Given the description of an element on the screen output the (x, y) to click on. 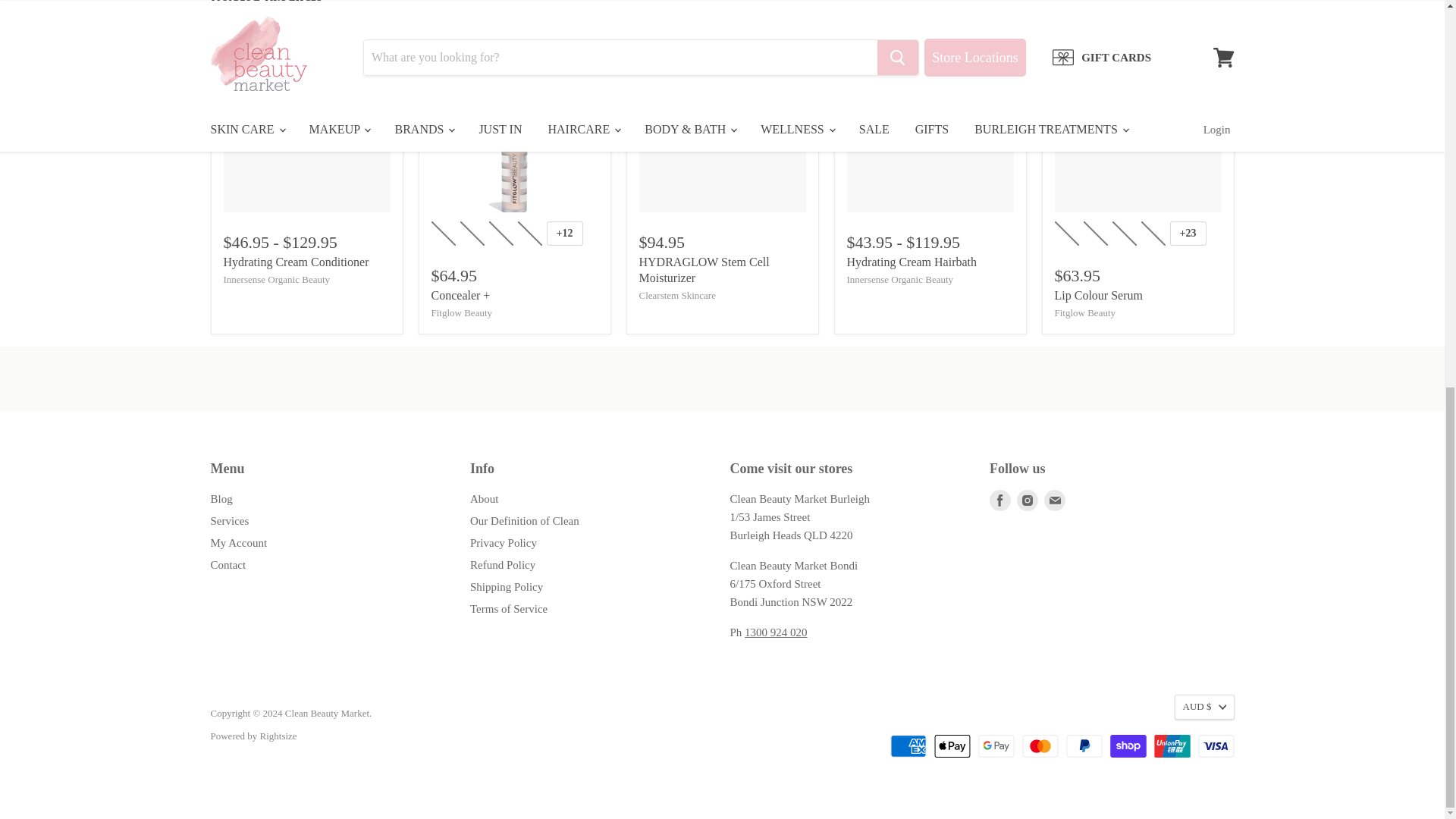
Facebook (1000, 500)
Instagram (1027, 500)
Email (1054, 500)
